Given the description of an element on the screen output the (x, y) to click on. 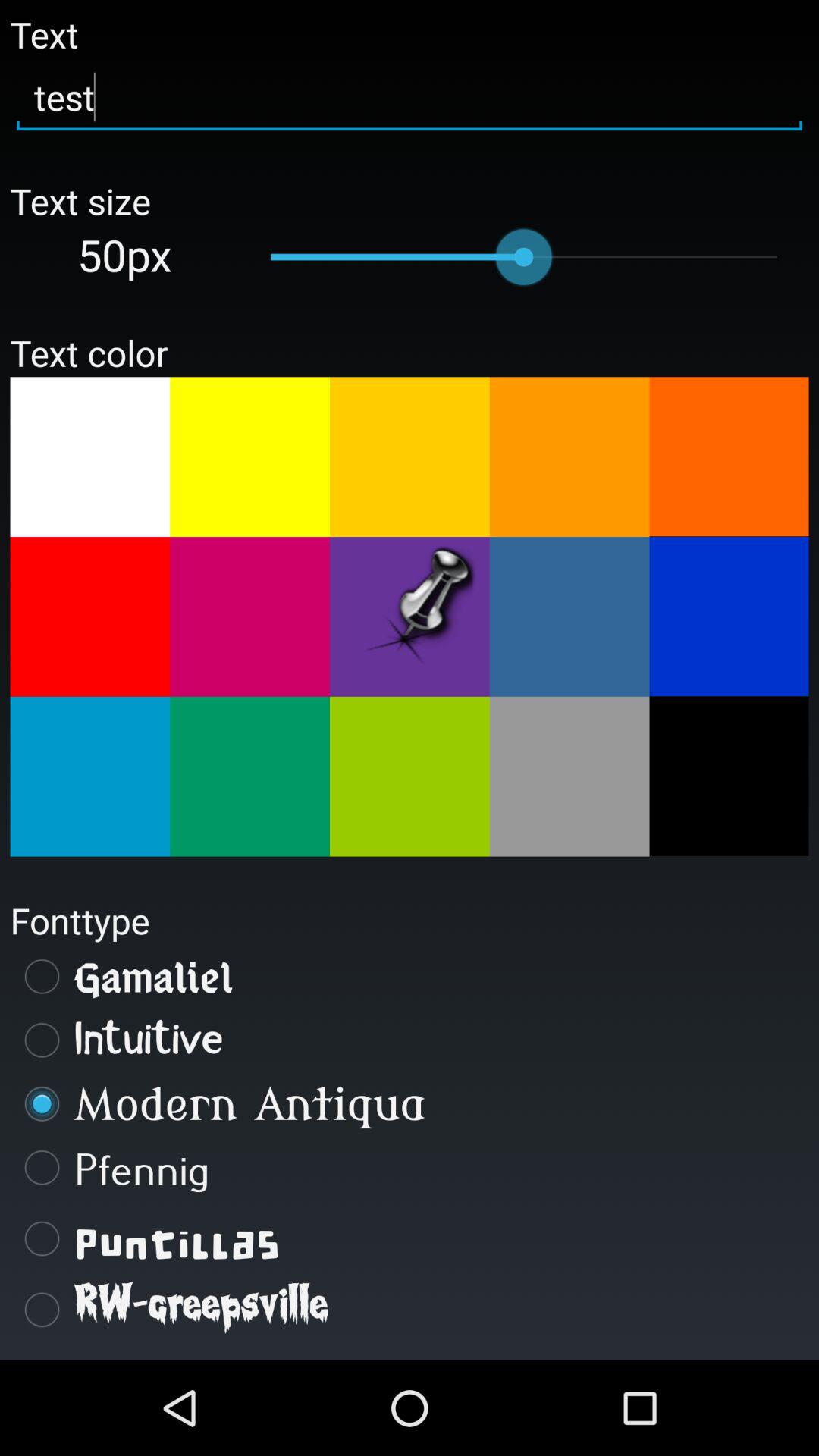
font color (569, 776)
